Given the description of an element on the screen output the (x, y) to click on. 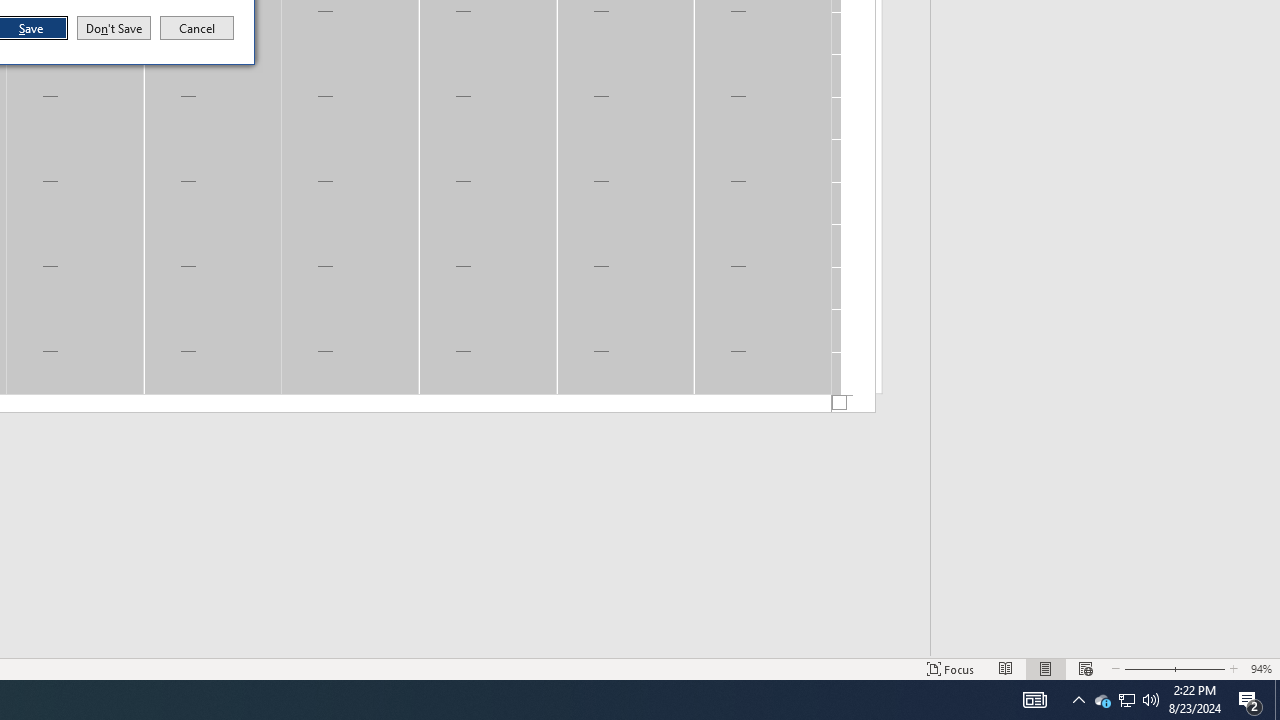
Zoom In (1199, 668)
Web Layout (1085, 668)
Read Mode (1005, 668)
AutomationID: 4105 (1034, 699)
